Given the description of an element on the screen output the (x, y) to click on. 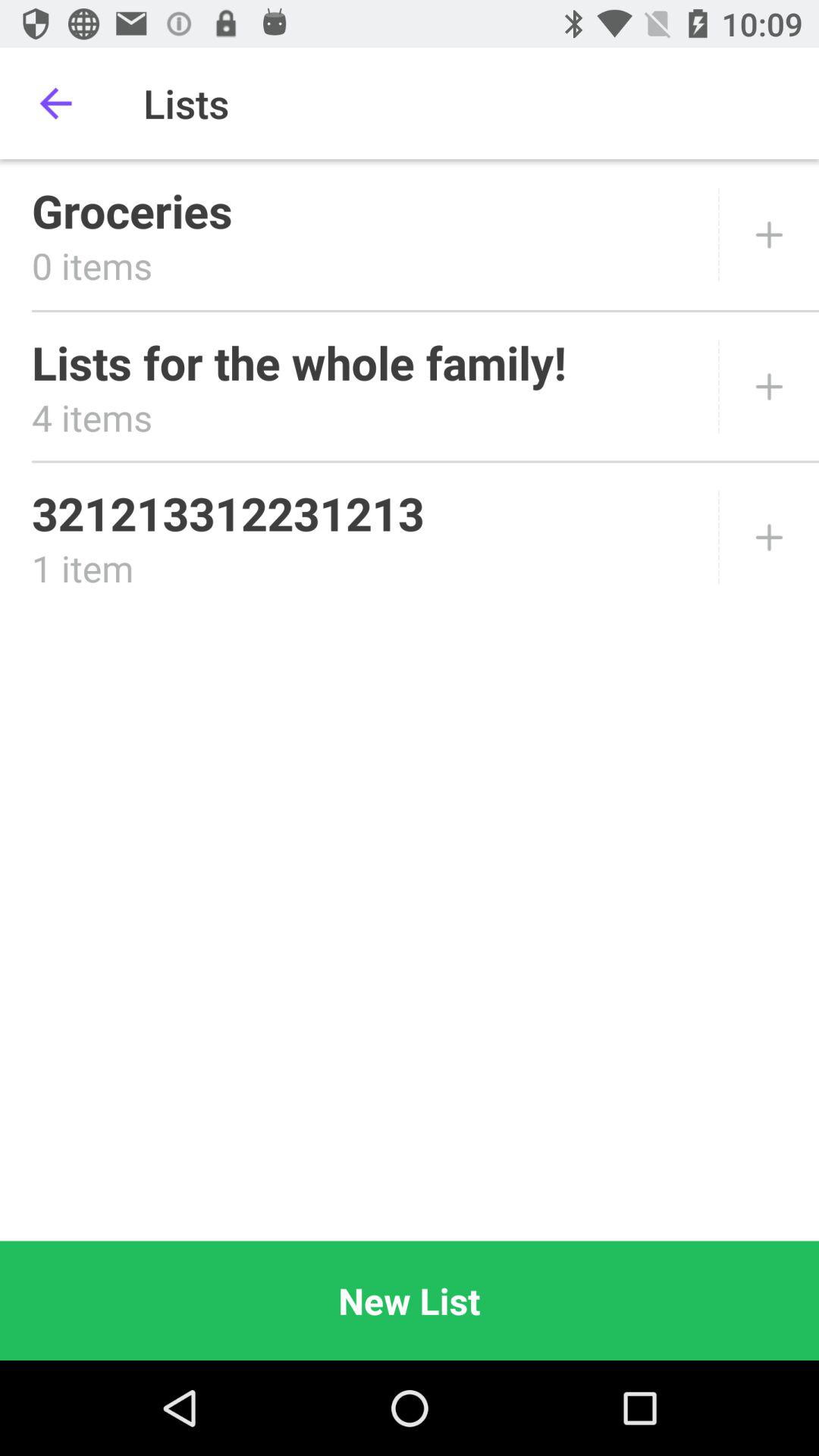
press item to the left of the lists icon (55, 103)
